Given the description of an element on the screen output the (x, y) to click on. 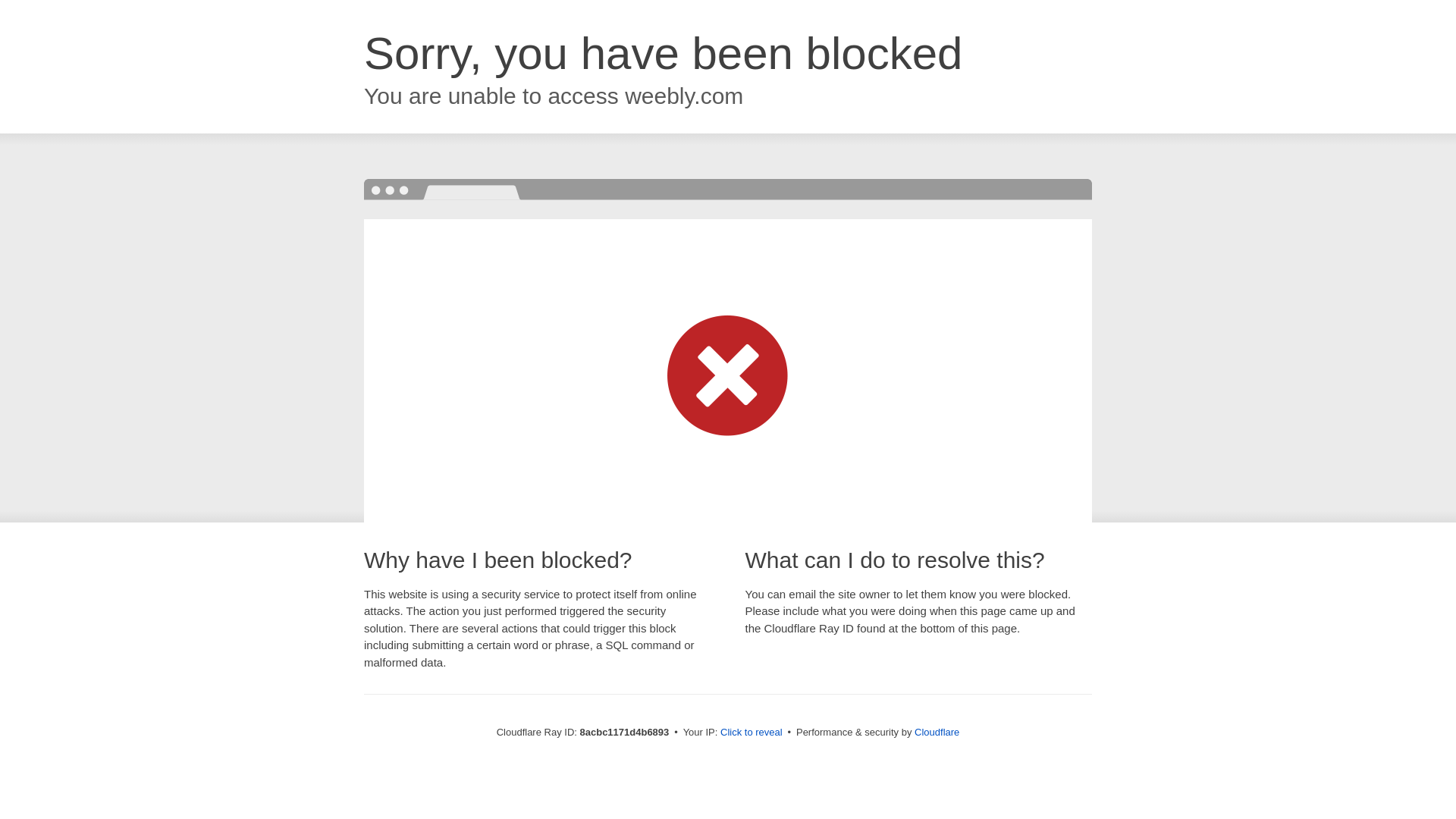
Click to reveal (751, 732)
Cloudflare (936, 731)
